Given the description of an element on the screen output the (x, y) to click on. 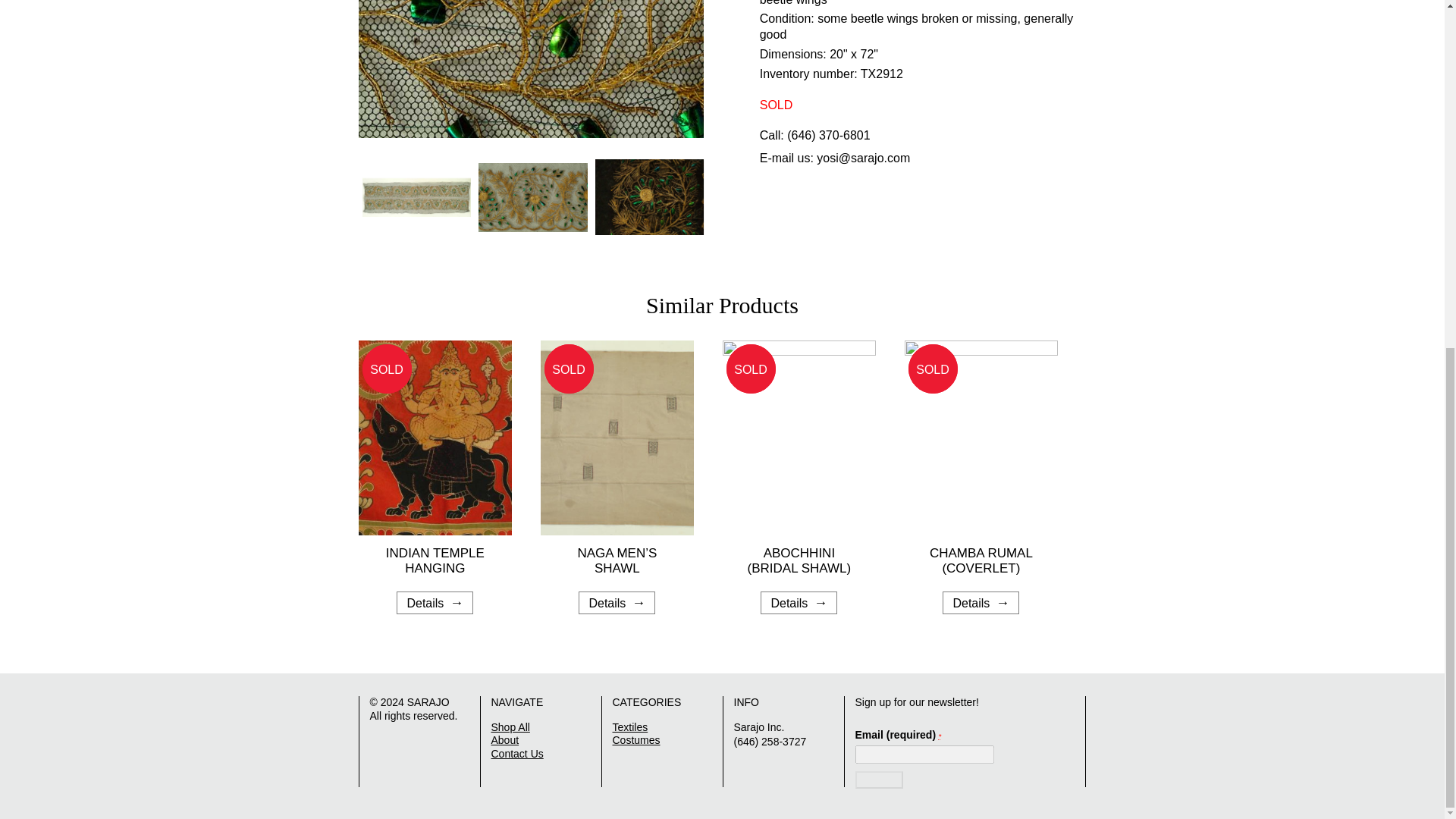
Sign up (879, 780)
